Given the description of an element on the screen output the (x, y) to click on. 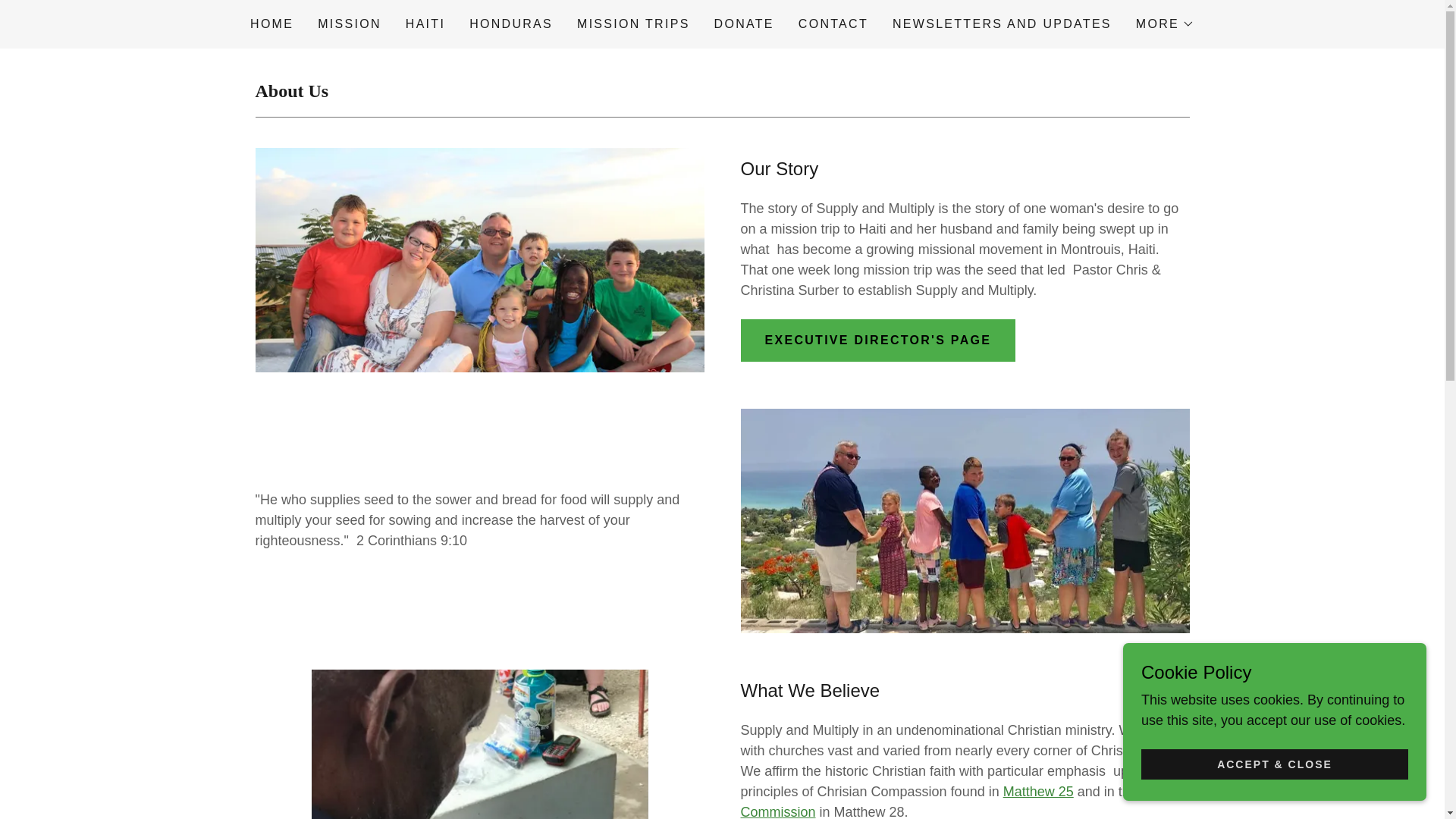
HOME (272, 23)
MISSION TRIPS (633, 23)
CONTACT (832, 23)
MORE (1164, 24)
Matthew 25 (1038, 791)
Great Commission (956, 801)
HAITI (425, 23)
EXECUTIVE DIRECTOR'S PAGE (876, 340)
HONDURAS (510, 23)
MISSION (349, 23)
